Given the description of an element on the screen output the (x, y) to click on. 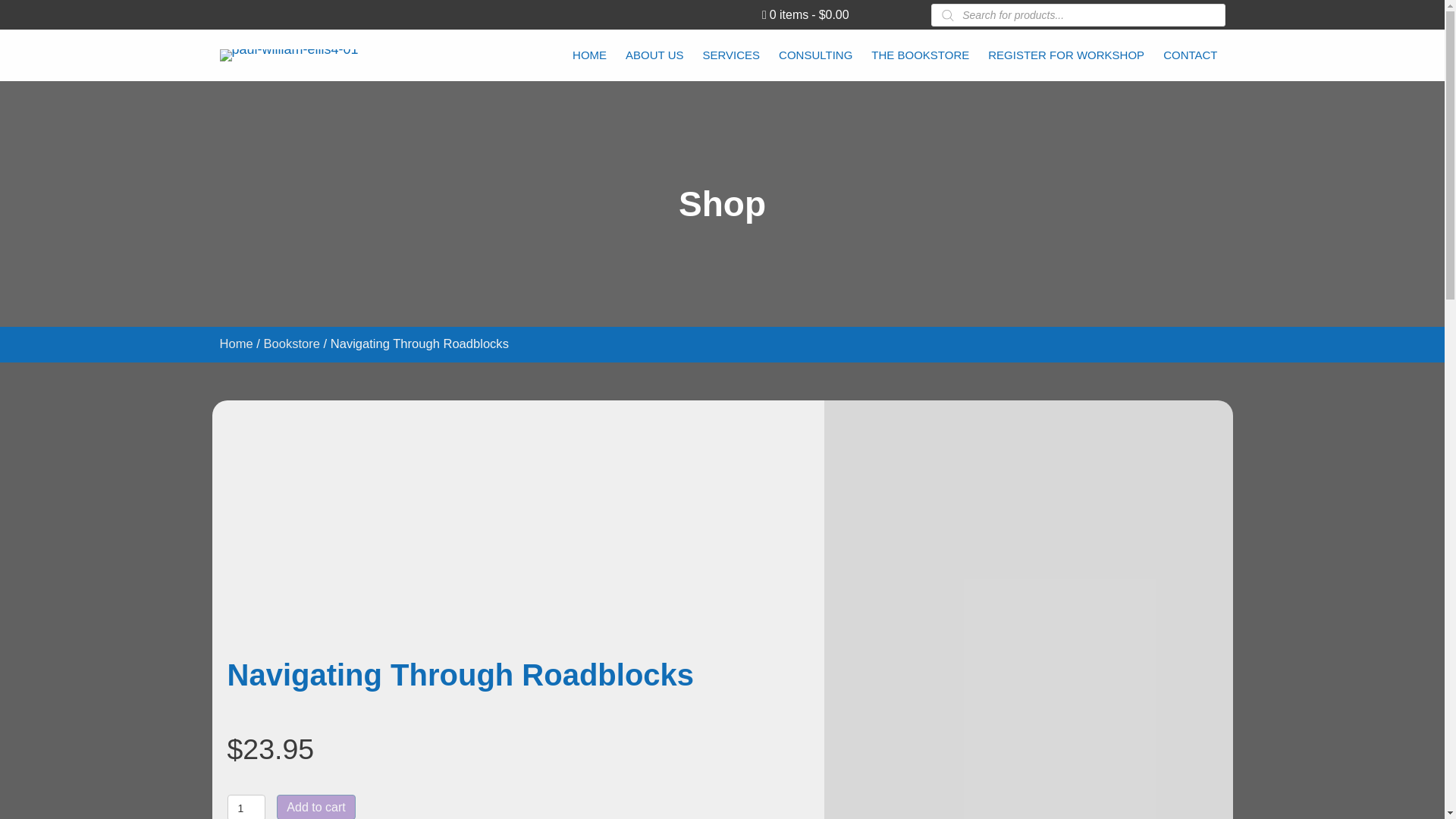
paul-william-ellis4-01 (288, 55)
1 (246, 806)
SERVICES (731, 53)
Bookstore (291, 343)
REGISTER FOR WORKSHOP (1065, 53)
HOME (589, 53)
CONSULTING (815, 53)
Start shopping (804, 14)
Add to cart (315, 806)
CONTACT (1190, 53)
Home (236, 343)
ABOUT US (653, 53)
THE BOOKSTORE (919, 53)
